Given the description of an element on the screen output the (x, y) to click on. 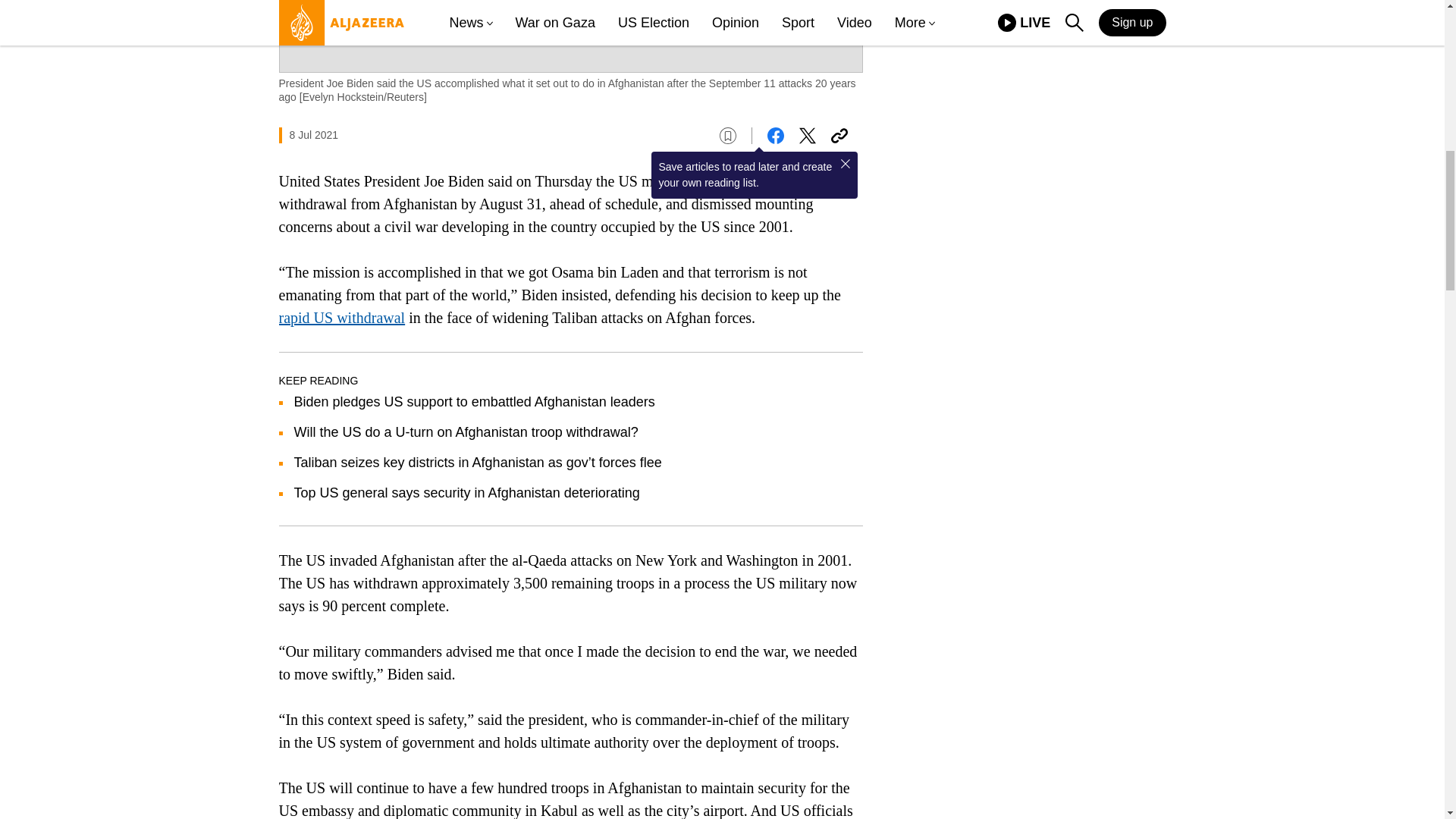
facebook (775, 135)
copylink (839, 135)
twitter (807, 135)
Close Tooltip (844, 163)
copylink (839, 135)
rapid US withdrawal (342, 317)
twitter (807, 135)
facebook (775, 135)
